Given the description of an element on the screen output the (x, y) to click on. 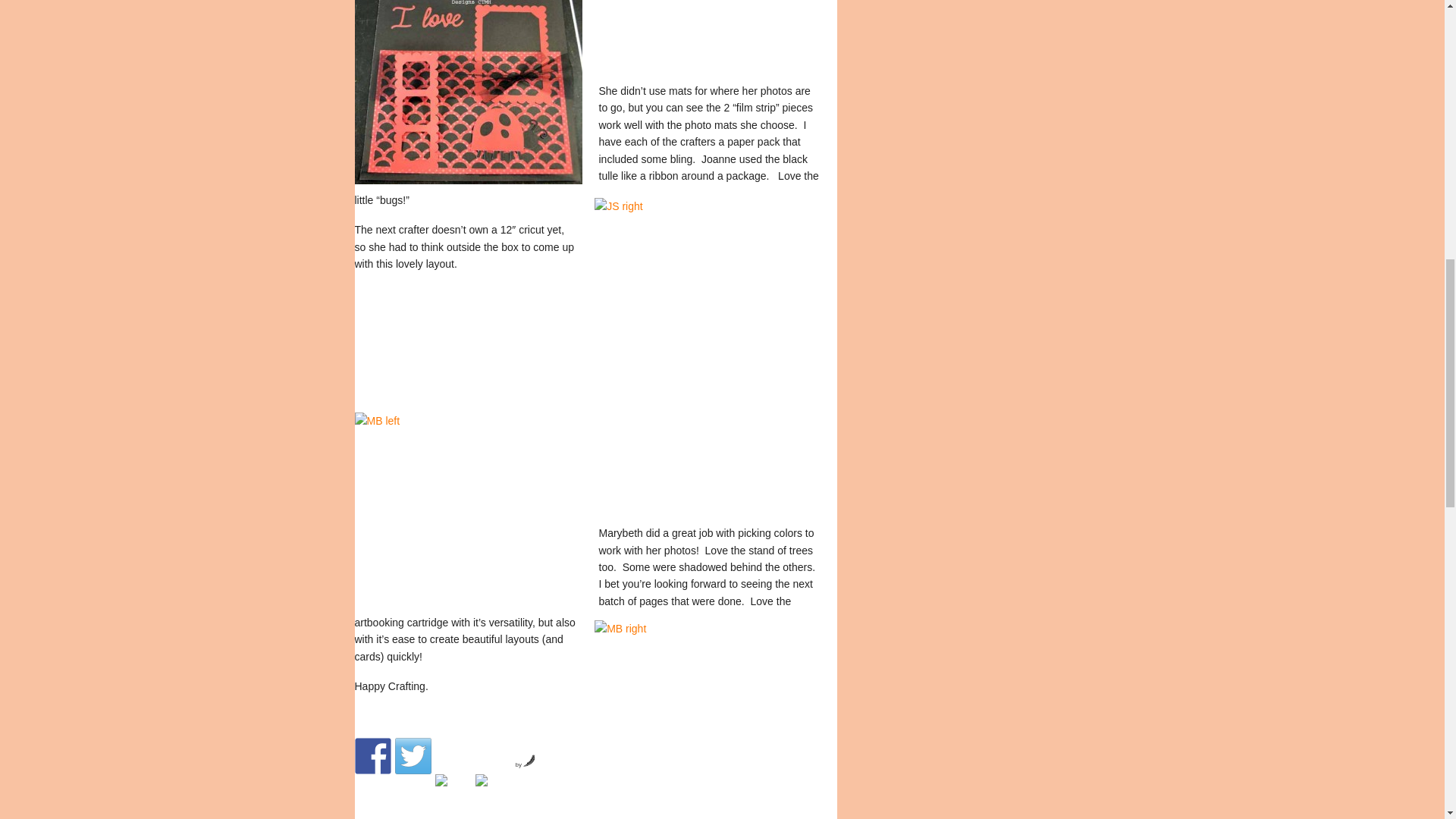
Share on Twitter (412, 755)
Share on Facebook (373, 755)
Share by email (480, 779)
by (525, 764)
Share by email (492, 791)
Pin it with Pinterest (440, 779)
WordPress Social Media Feather (525, 764)
Pin it with Pinterest (453, 791)
